Given the description of an element on the screen output the (x, y) to click on. 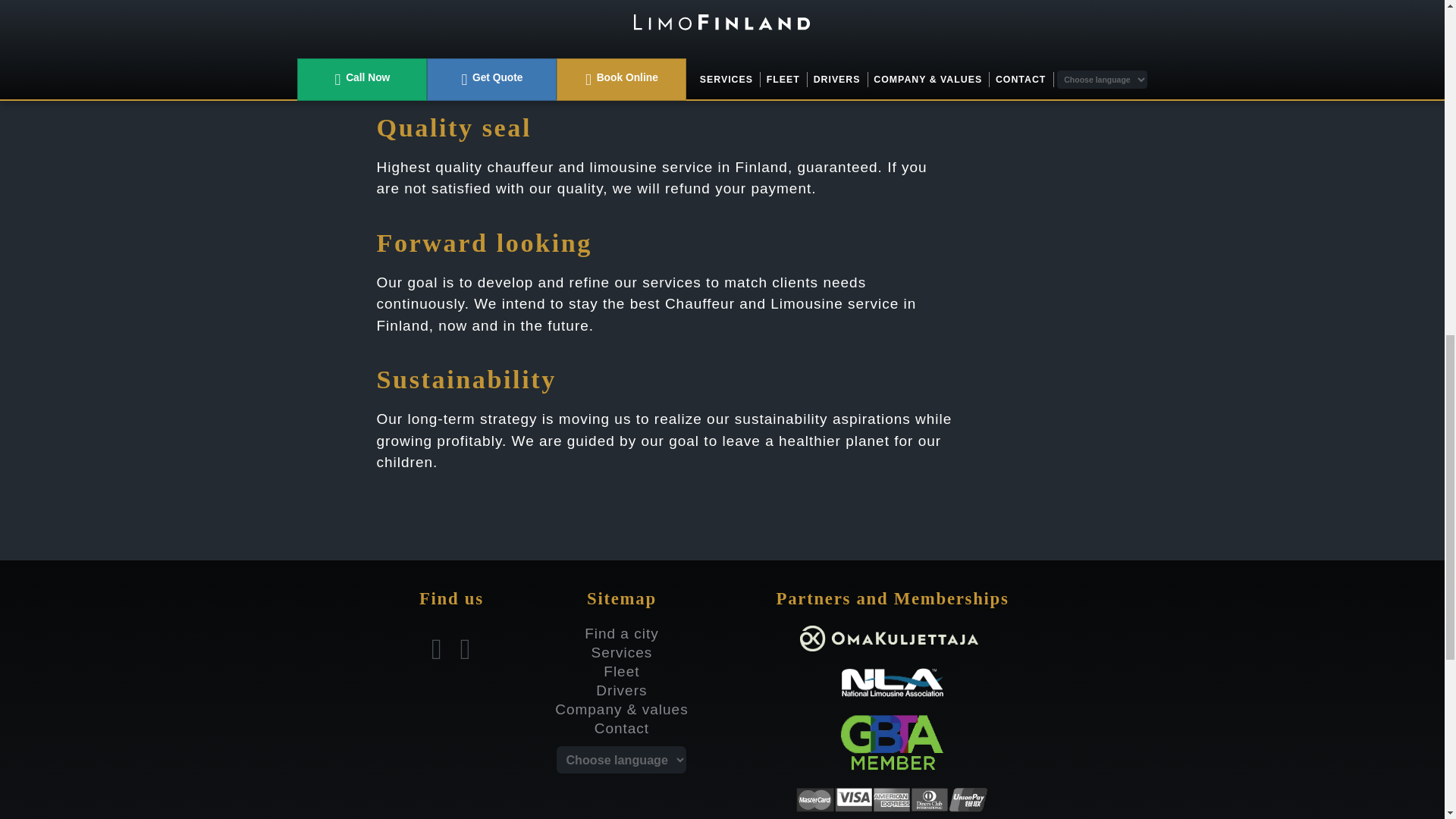
Services (621, 652)
Find a city (622, 633)
Drivers (620, 690)
Contact (621, 728)
Fleet (621, 671)
